Given the description of an element on the screen output the (x, y) to click on. 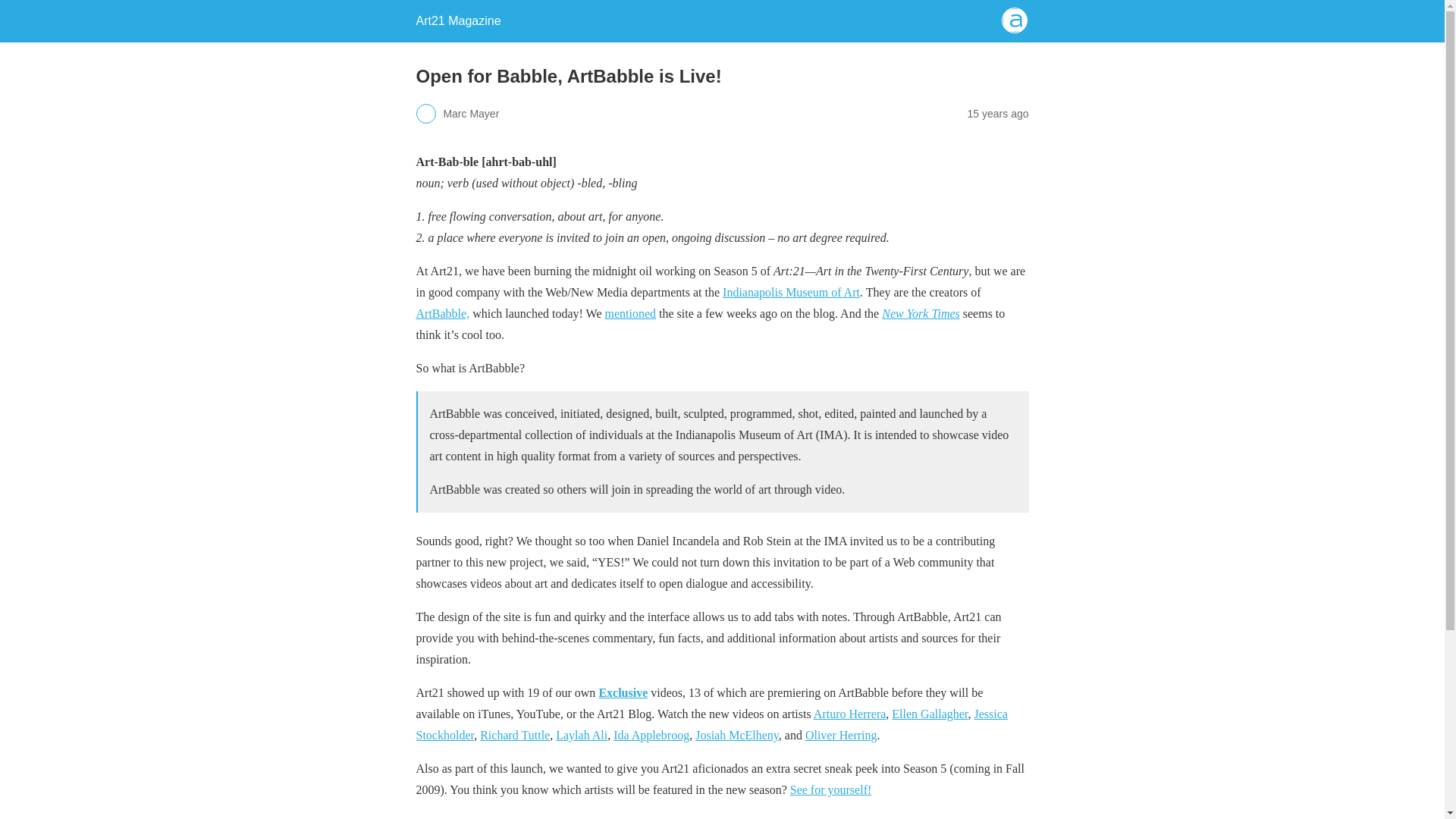
Ellen Gallagher (929, 713)
Ida Applebroog (650, 735)
mentioned (630, 313)
Oliver Herring (841, 735)
Indianapolis Museum of Art (791, 291)
Laylah Ali (581, 735)
See for yourself! (831, 789)
Josiah McElheny (736, 735)
Exclusive (622, 692)
Richard Tuttle (515, 735)
New York Times (920, 313)
Art21 Magazine (457, 20)
Arturo Herrera (849, 713)
Jessica Stockholder (710, 724)
